Given the description of an element on the screen output the (x, y) to click on. 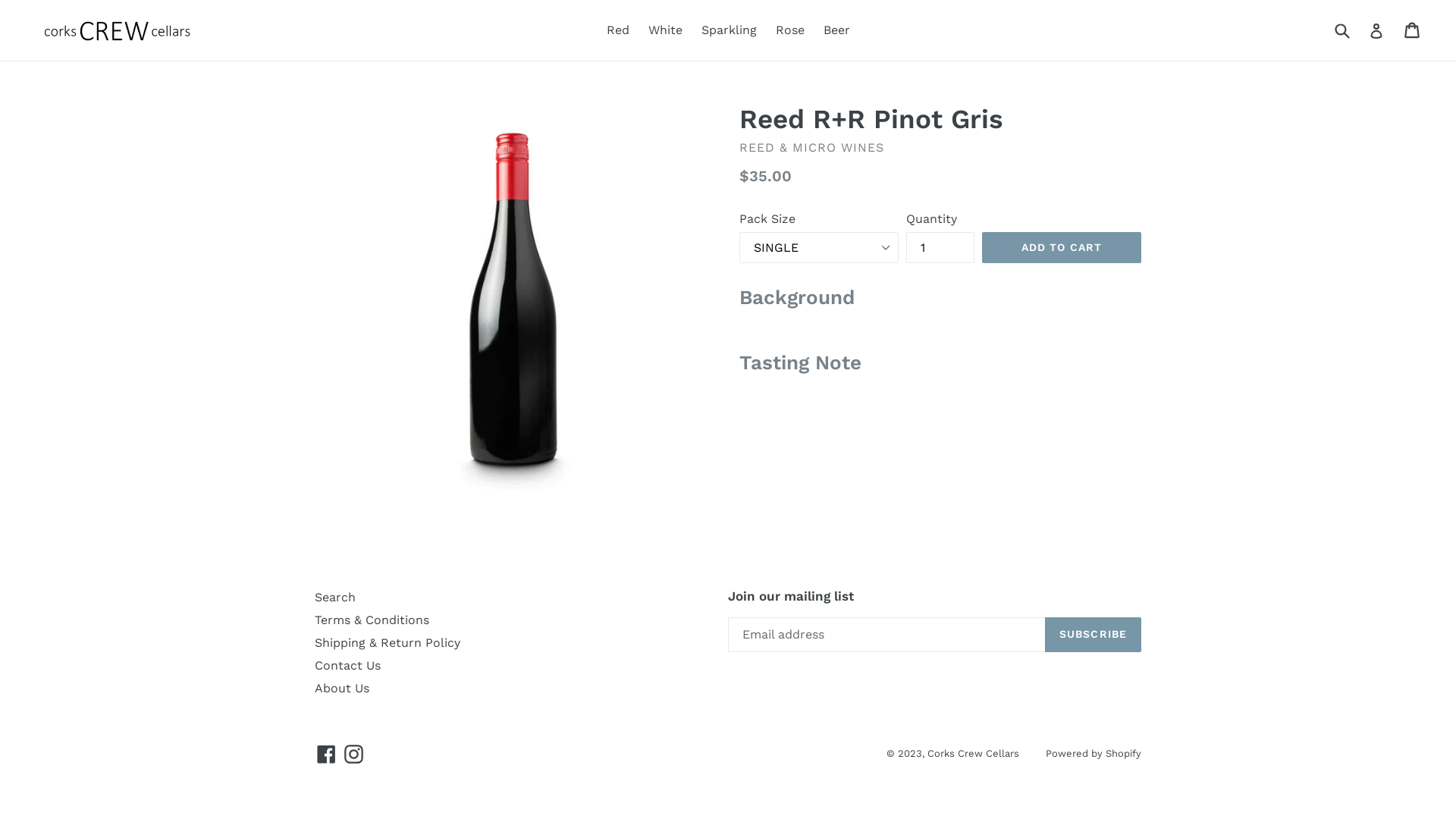
Submit Element type: text (1341, 29)
Instagram Element type: text (353, 753)
ADD TO CART Element type: text (1061, 247)
Cart
Cart Element type: text (1412, 29)
Powered by Shopify Element type: text (1093, 753)
Terms & Conditions Element type: text (371, 619)
Search Element type: text (334, 596)
Rose Element type: text (789, 29)
Sparkling Element type: text (728, 29)
SUBSCRIBE Element type: text (1092, 634)
Facebook Element type: text (326, 753)
About Us Element type: text (341, 687)
Red Element type: text (618, 29)
Log in Element type: text (1375, 30)
Shipping & Return Policy Element type: text (387, 642)
Beer Element type: text (836, 29)
Contact Us Element type: text (347, 665)
Corks Crew Cellars Element type: text (973, 753)
White Element type: text (664, 29)
